Given the description of an element on the screen output the (x, y) to click on. 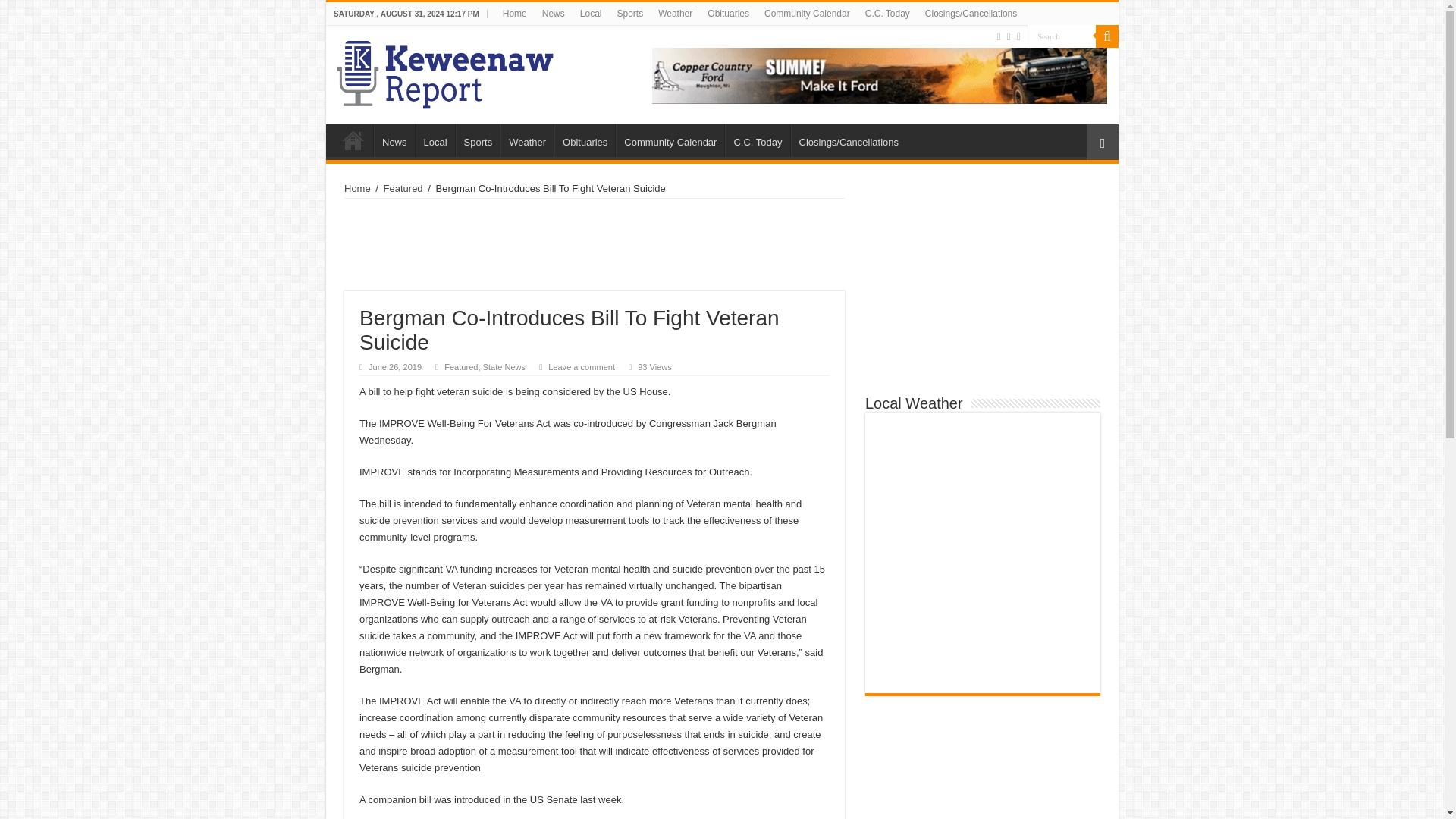
Search (1061, 35)
Featured (460, 366)
Obituaries (584, 140)
Community Calendar (669, 140)
C.C. Today (887, 13)
News (394, 140)
CC Ford Summer Selection (879, 74)
Community Calendar (807, 13)
C.C. Today (757, 140)
Leave a comment (581, 366)
